Given the description of an element on the screen output the (x, y) to click on. 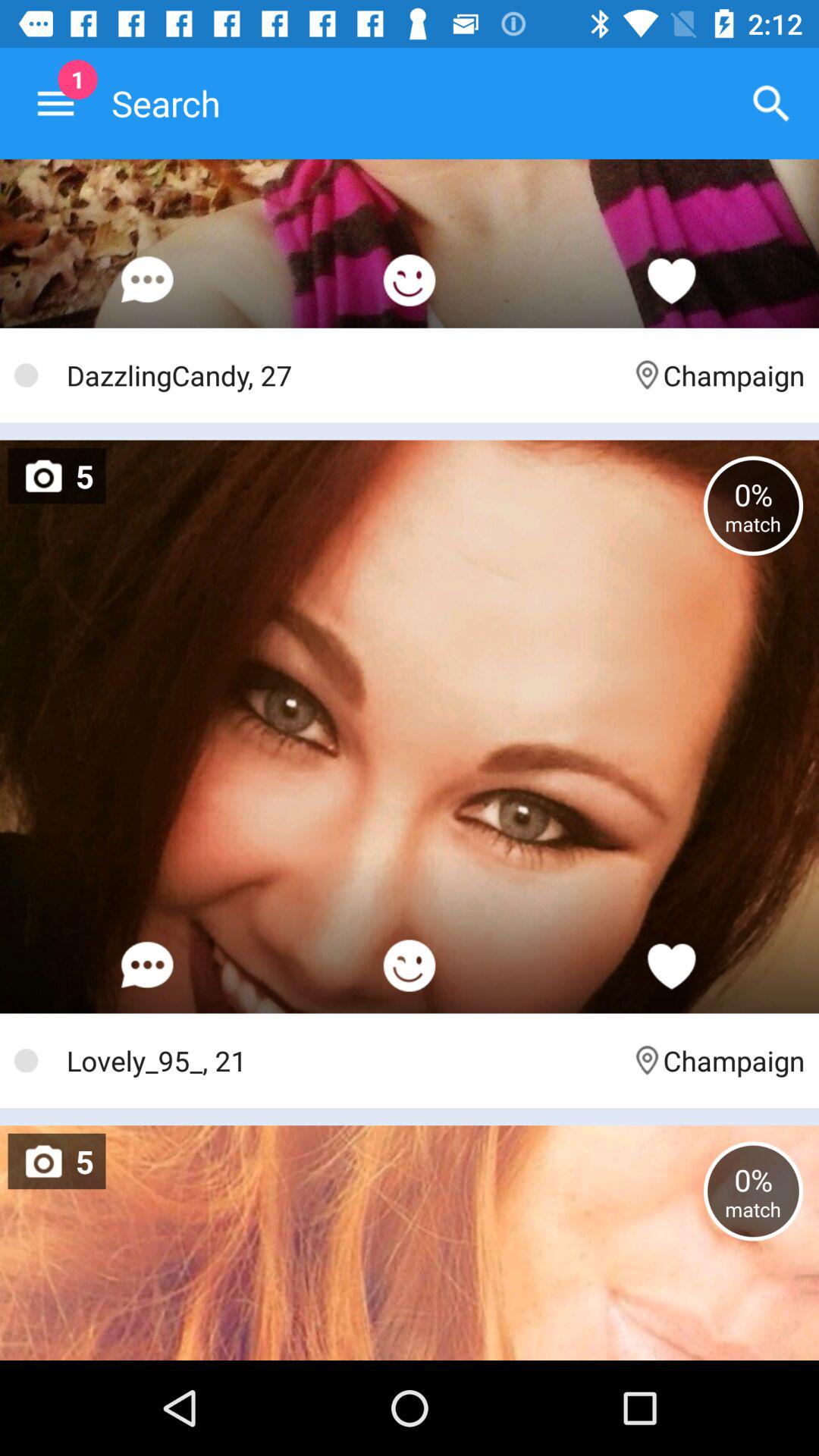
press the lovely_95_, 21 (341, 1060)
